Given the description of an element on the screen output the (x, y) to click on. 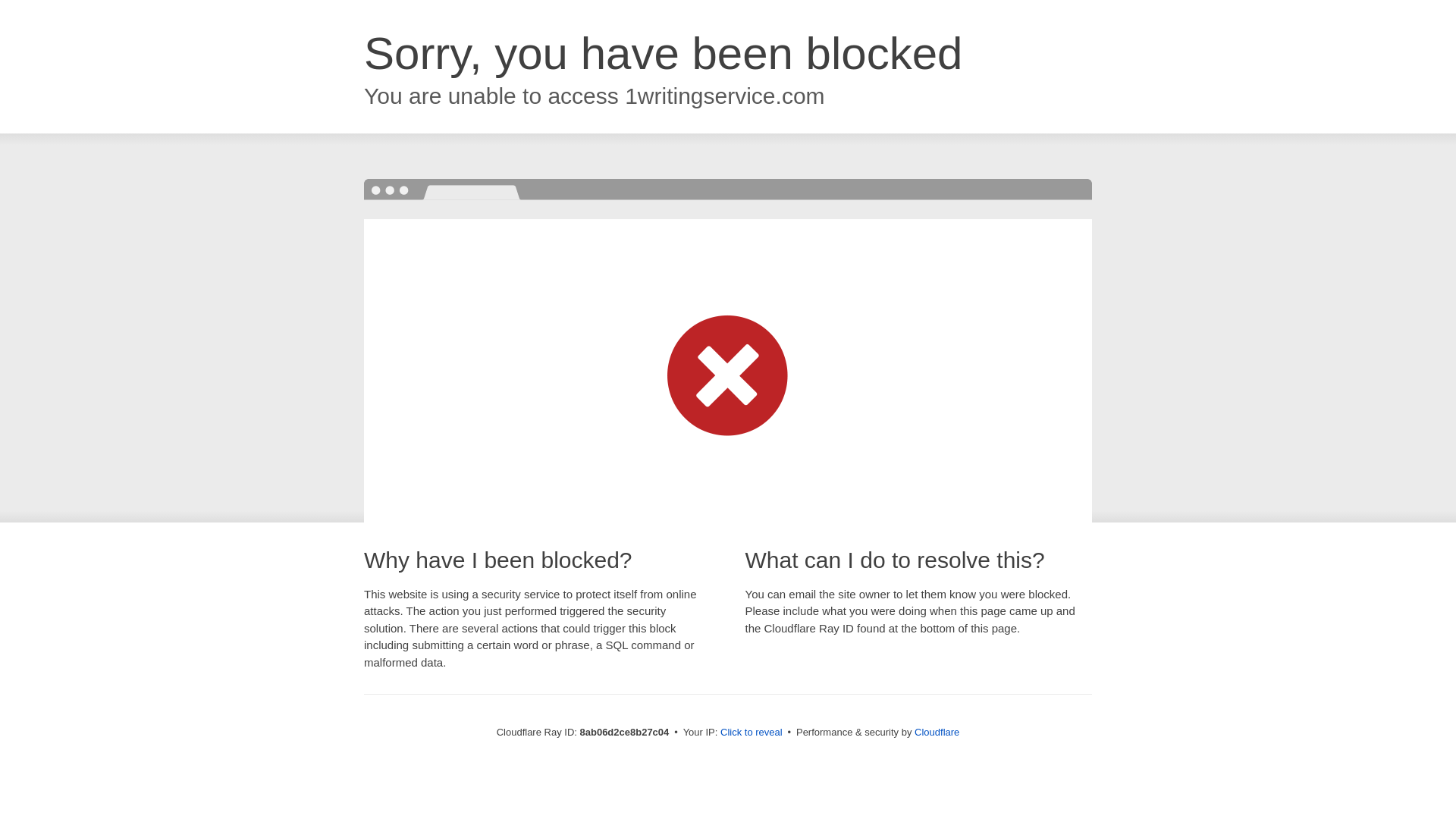
Cloudflare (936, 731)
Click to reveal (751, 732)
